Given the description of an element on the screen output the (x, y) to click on. 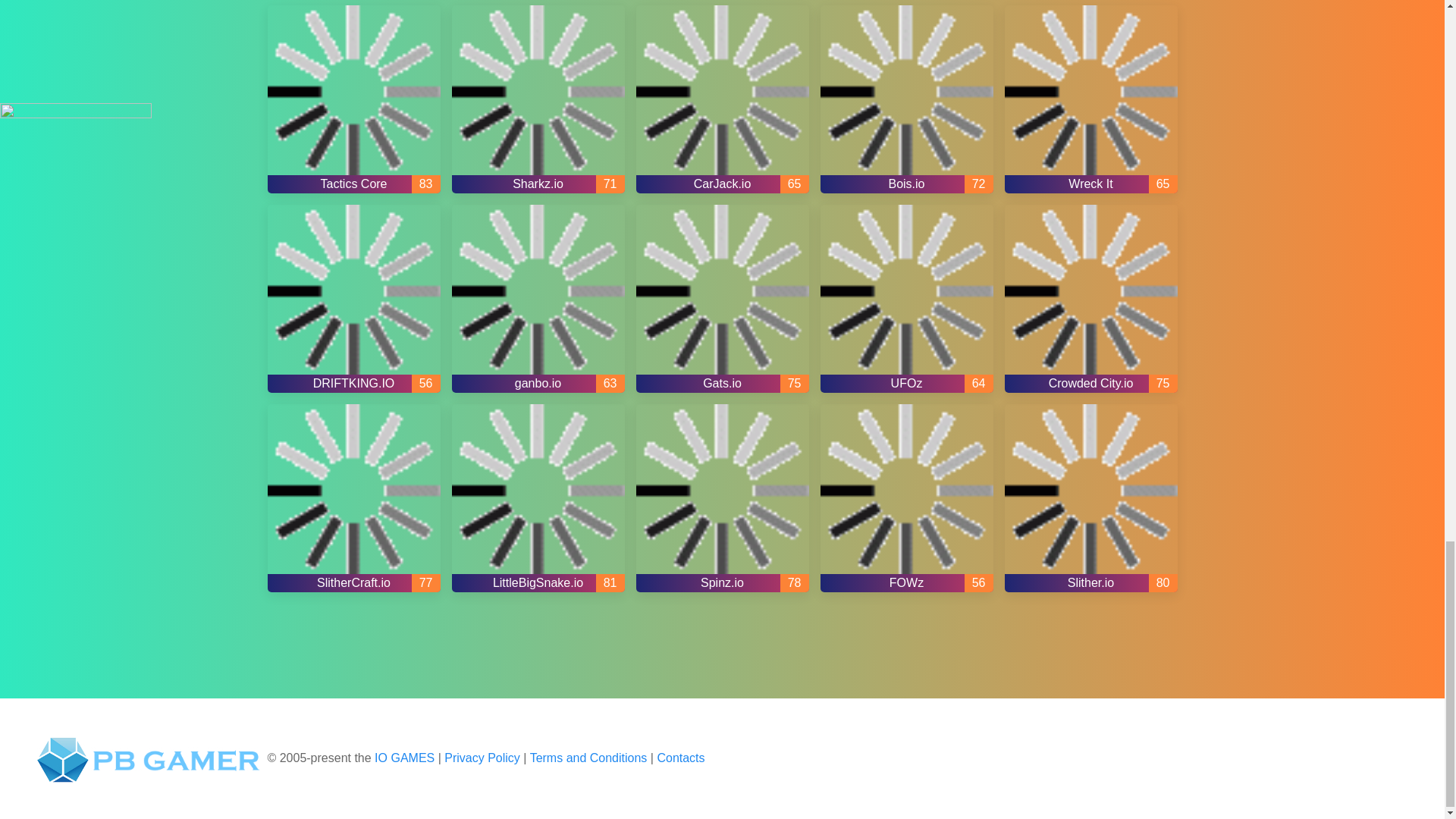
Spinz.io (721, 498)
LittleBigSnake.io (537, 498)
Slither.io (1090, 498)
CarJack.io (721, 98)
Bois.io (906, 98)
Sharkz.io (537, 98)
Crowded City.io (1090, 298)
Tactics Core (352, 98)
DRIFTKING.IO (352, 298)
Wreck It (1090, 98)
UFOz (906, 298)
SlitherCraft.io (352, 498)
Gats.io (721, 298)
FOWz (906, 498)
ganbo.io (537, 298)
